Given the description of an element on the screen output the (x, y) to click on. 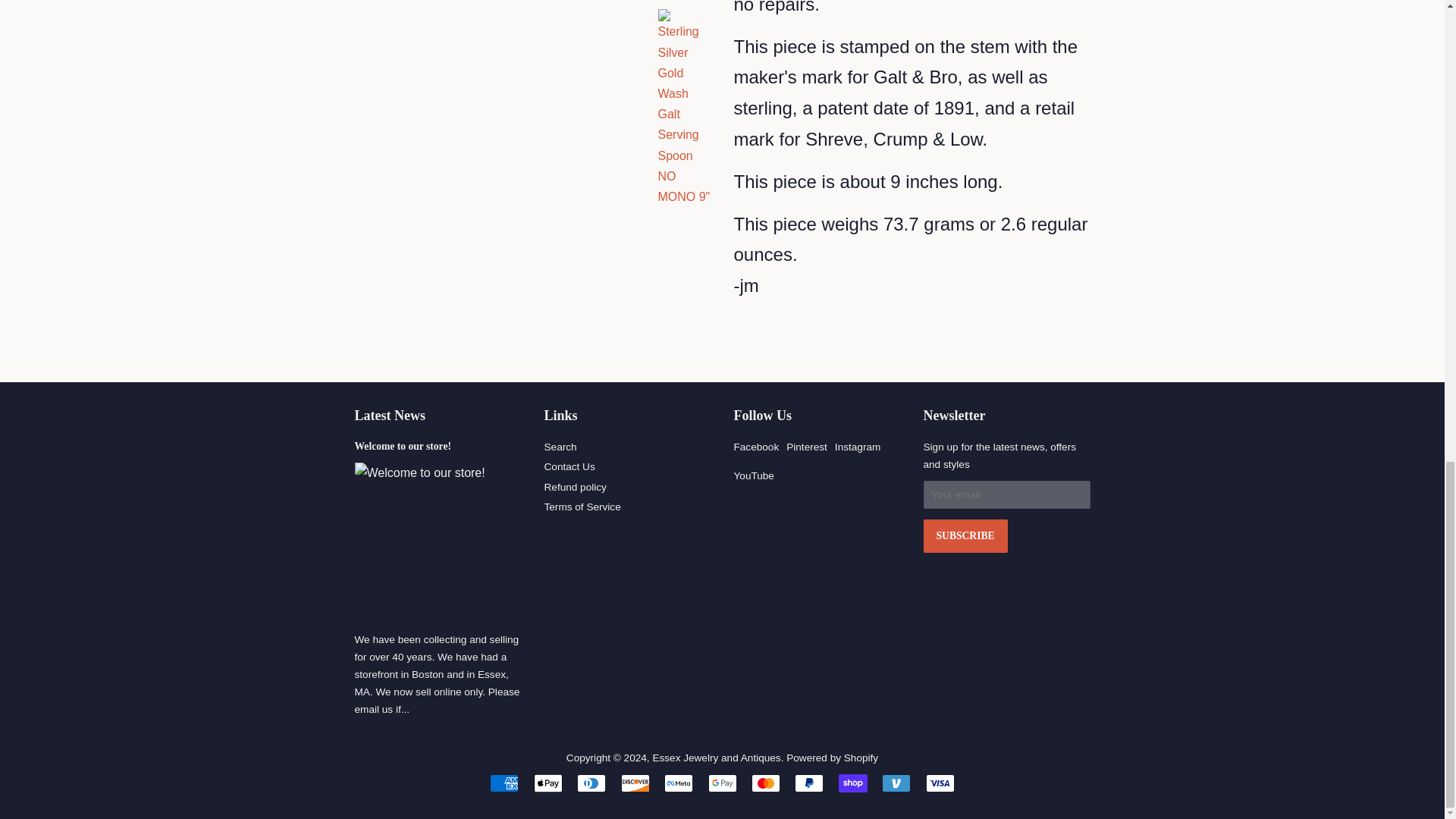
Apple Pay (548, 782)
Diners Club (590, 782)
Shop Pay (852, 782)
Discover (635, 782)
Essex Jewelry and Antiques on Pinterest (806, 446)
Visa (940, 782)
PayPal (809, 782)
Subscribe (965, 535)
Google Pay (721, 782)
Meta Pay (678, 782)
